Given the description of an element on the screen output the (x, y) to click on. 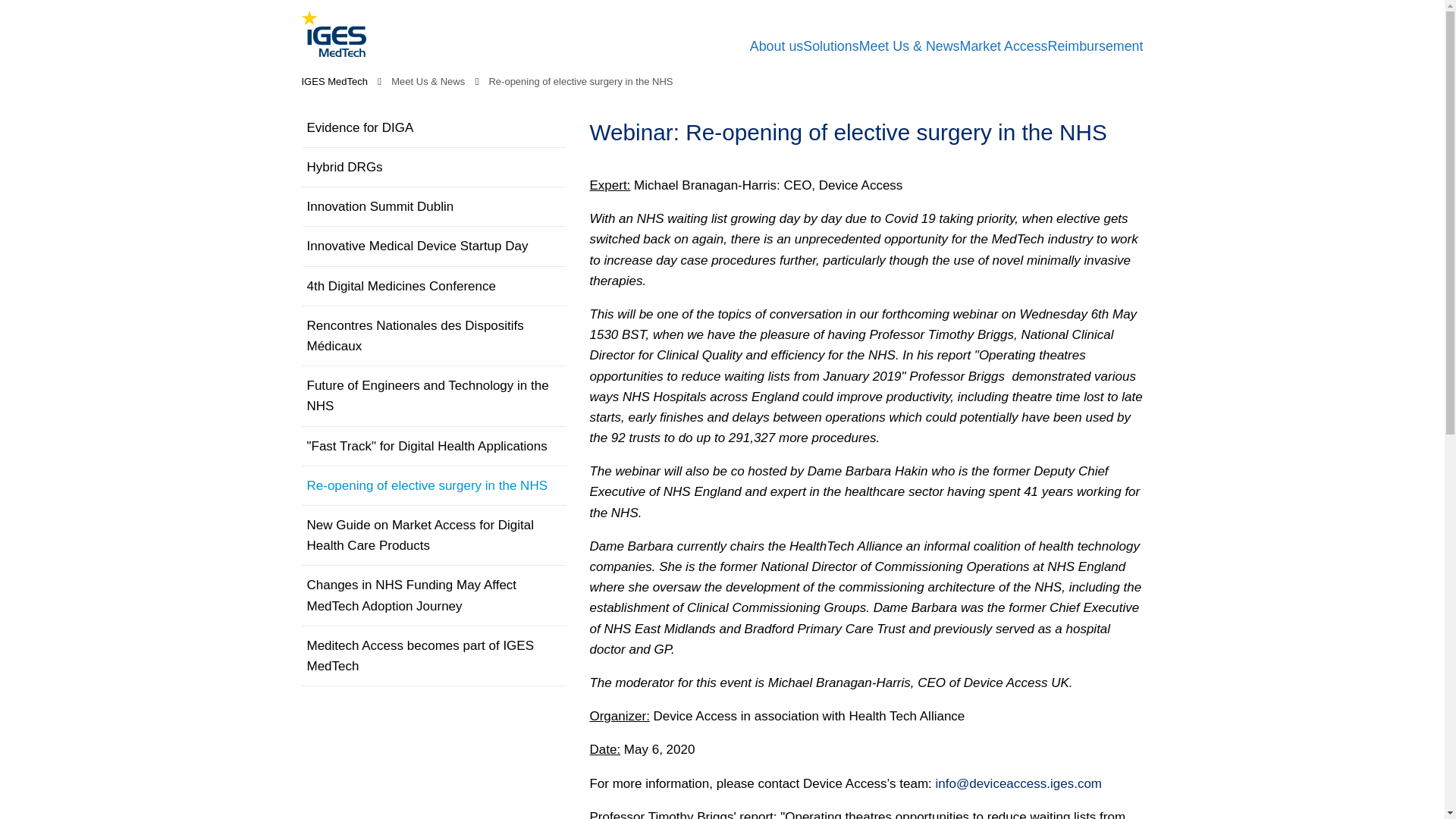
Innovation Summit Dublin (378, 206)
Solutions (831, 46)
About us (776, 46)
IGES MedTech (333, 32)
Innovative Medical Device Startup Day (416, 246)
Reimbursement (1095, 46)
About IGES MedTech (776, 46)
Solutions (831, 46)
Market Access (1003, 46)
IGES MedTech (334, 81)
Evidence for DIGA (359, 127)
Hybrid DRGs (343, 166)
Re-opening of elective surgery in the NHS (579, 81)
